Given the description of an element on the screen output the (x, y) to click on. 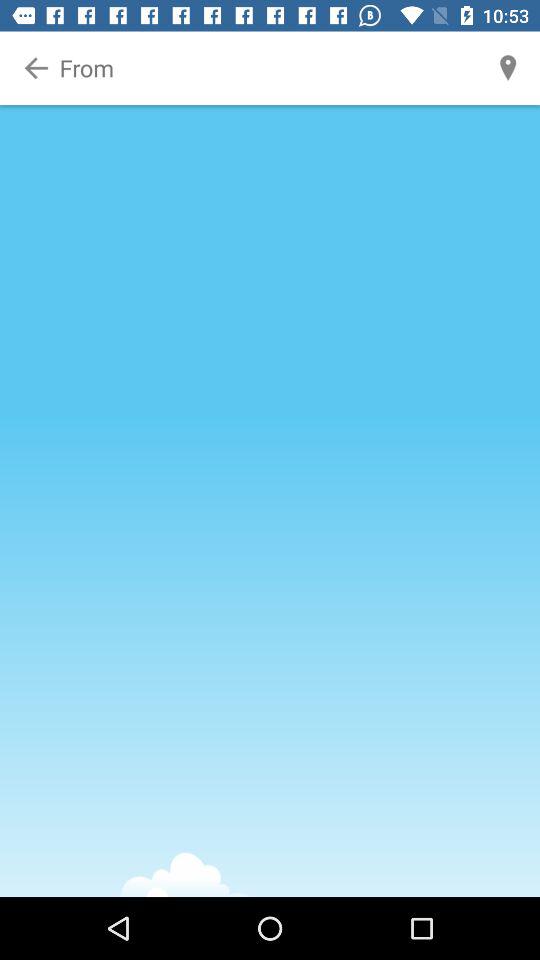
go back (35, 67)
